Given the description of an element on the screen output the (x, y) to click on. 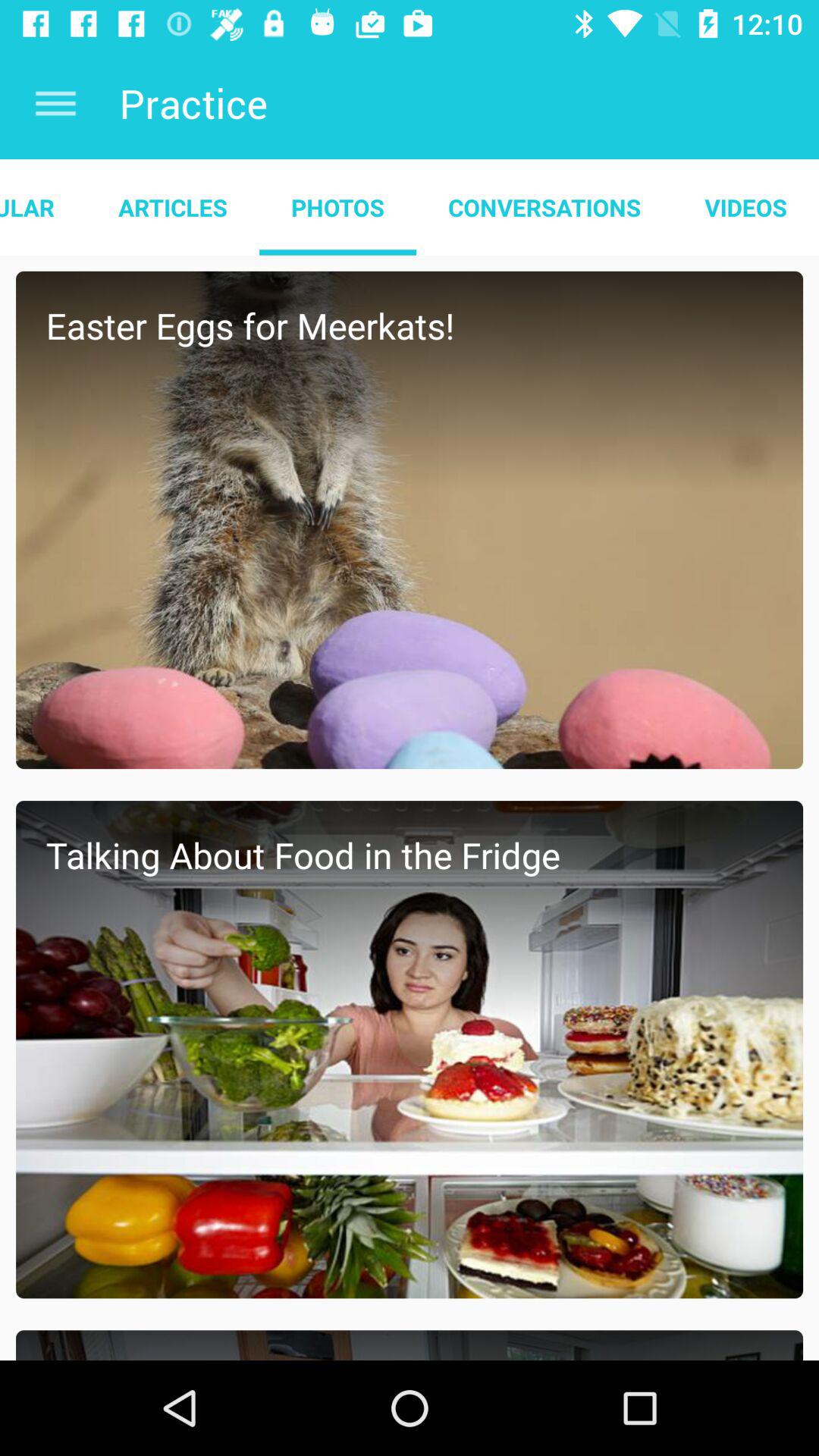
open app to the left of conversations item (337, 207)
